Given the description of an element on the screen output the (x, y) to click on. 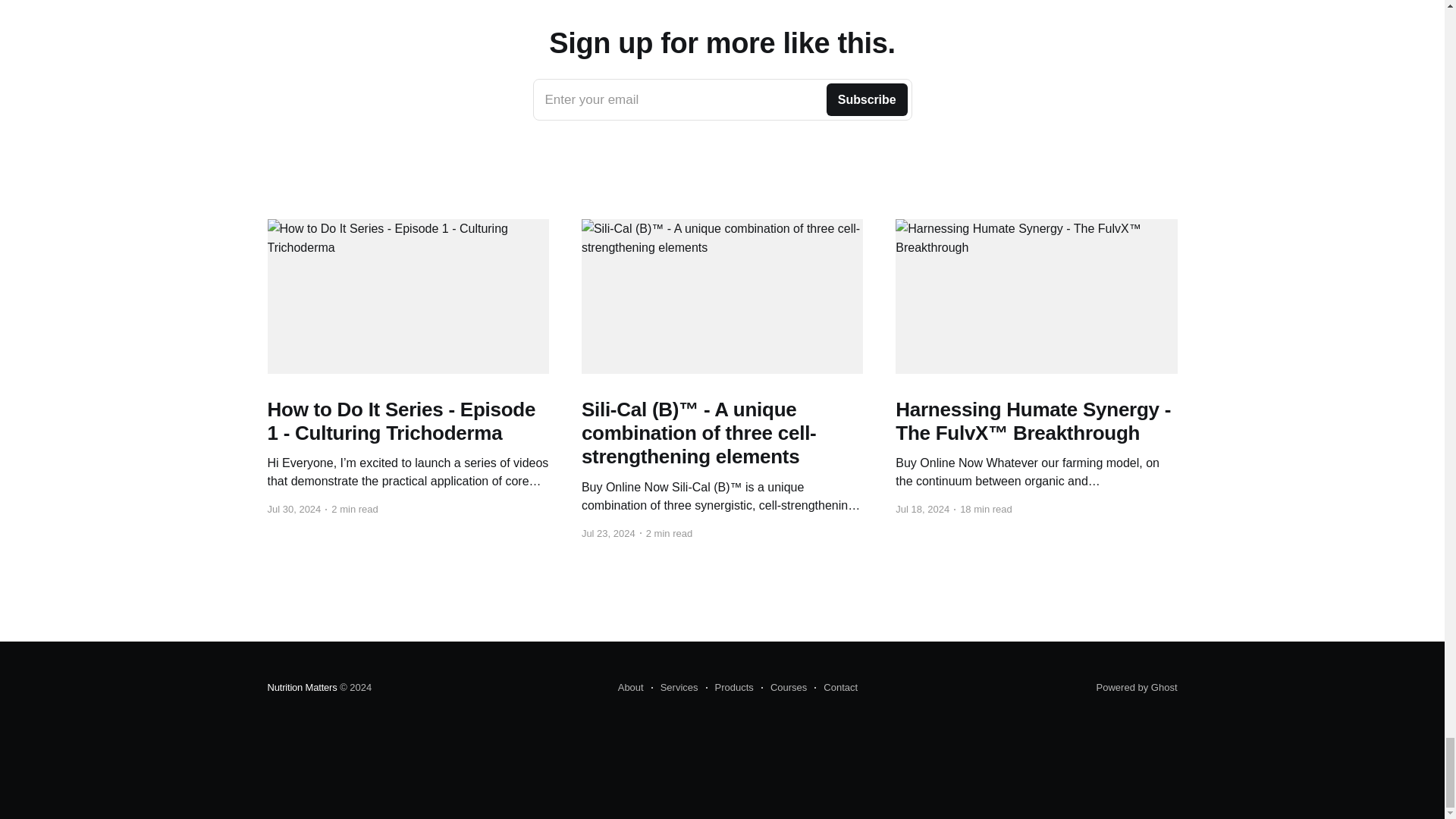
About (630, 687)
Nutrition Matters (301, 686)
Services (674, 687)
Powered by Ghost (1136, 686)
Products (730, 687)
Contact (721, 99)
Courses (835, 687)
